Given the description of an element on the screen output the (x, y) to click on. 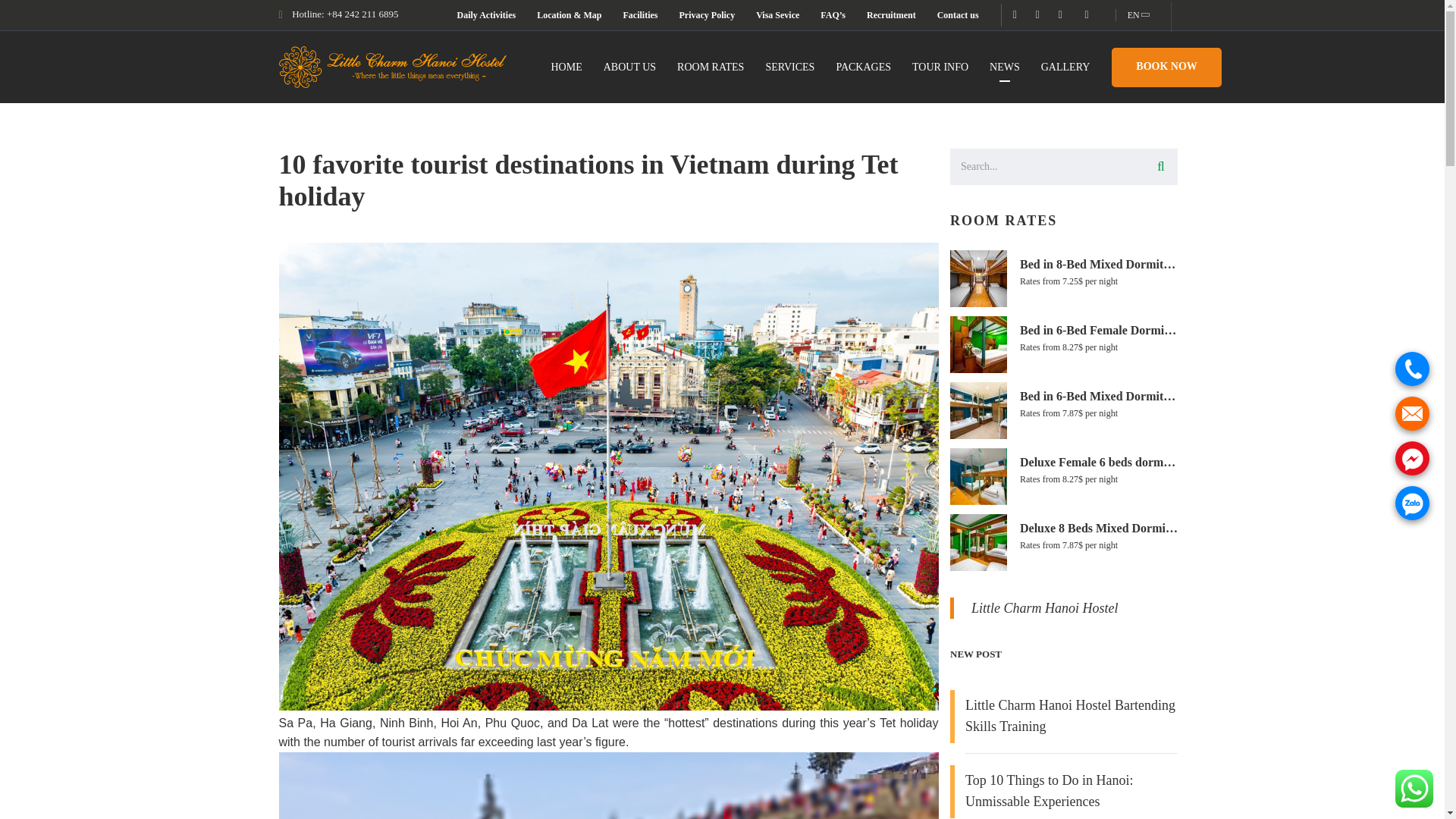
Social item (1081, 15)
Deluxe Female 6 beds dorm with city view (1062, 460)
Recruitment (891, 14)
Bed in 6-Bed Mixed Dormitory Room (1062, 394)
Facilities (640, 14)
PACKAGES (863, 67)
Contact us (958, 14)
ROOM RATES (710, 67)
Bed in 6-Bed Female Dormitory Room (1062, 329)
Daily Activities (485, 14)
